Given the description of an element on the screen output the (x, y) to click on. 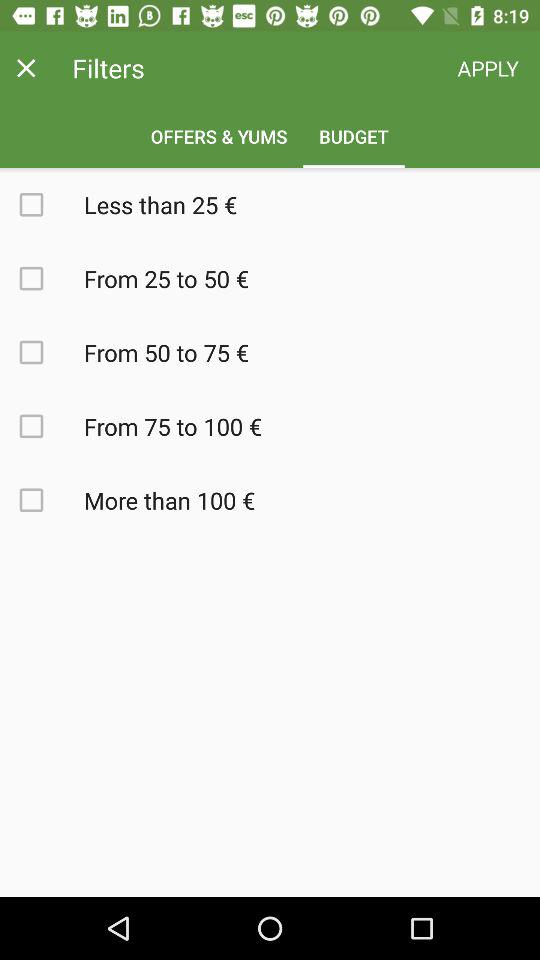
select offers in this price range (41, 426)
